Given the description of an element on the screen output the (x, y) to click on. 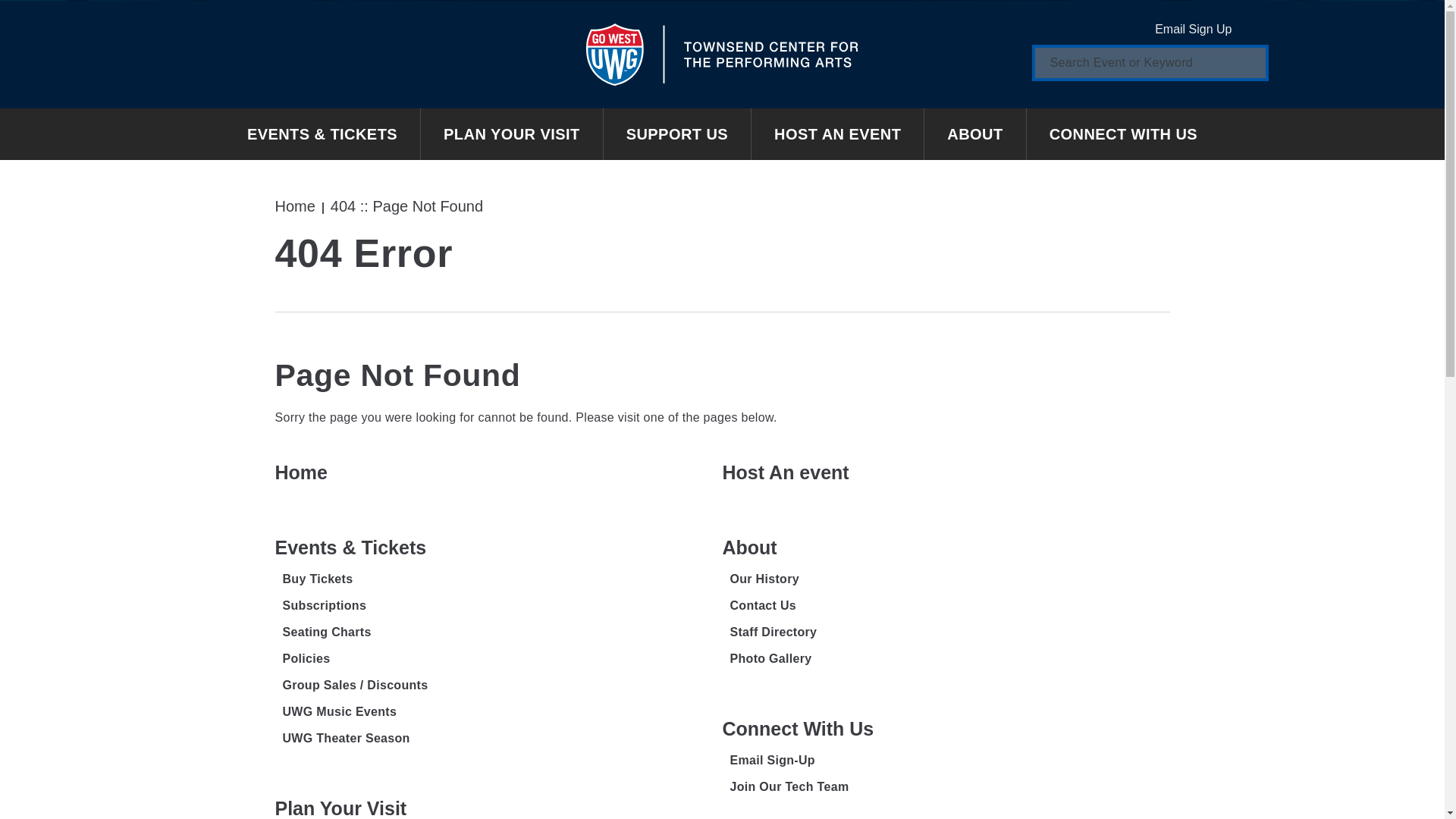
Email Sign Up (1203, 29)
PLAN YOUR VISIT (512, 133)
HOST AN EVENT (837, 133)
Email Sign Up (1203, 29)
CONNECT WITH US (1123, 133)
Search (1246, 62)
ABOUT (975, 133)
Townsend Center for the Performing Arts (722, 53)
SUPPORT US (677, 133)
